Given the description of an element on the screen output the (x, y) to click on. 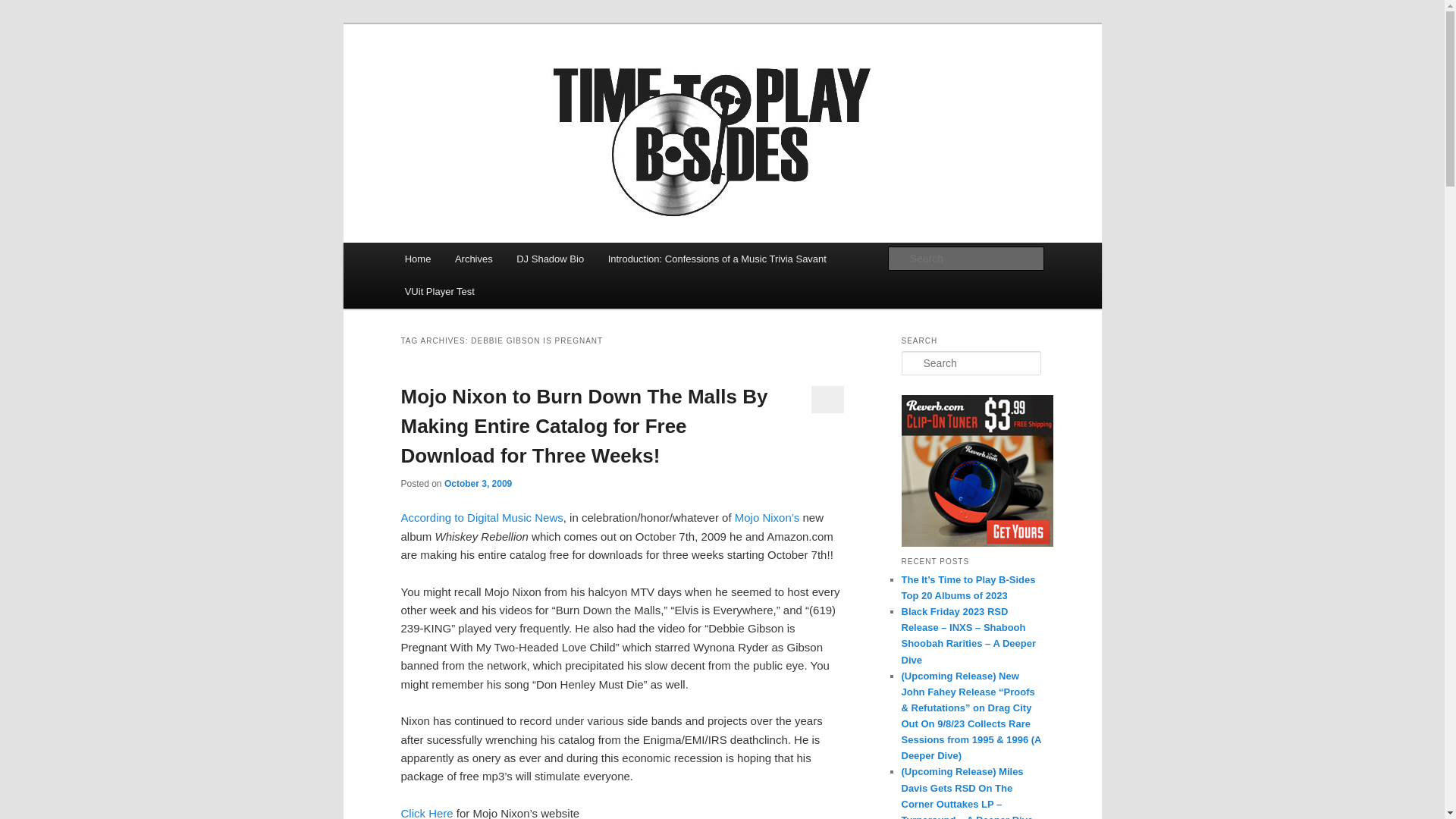
Search (21, 11)
Search (24, 8)
Click Here (426, 812)
Archives (472, 258)
Introduction: Confessions of a Music Trivia Savant (716, 258)
DJ Shadow Bio (549, 258)
Home (417, 258)
According to Digital Music News (481, 517)
October 3, 2009 (478, 483)
Time to play b-sides (509, 78)
VUit Player Test (439, 291)
3:12 pm (478, 483)
